Given the description of an element on the screen output the (x, y) to click on. 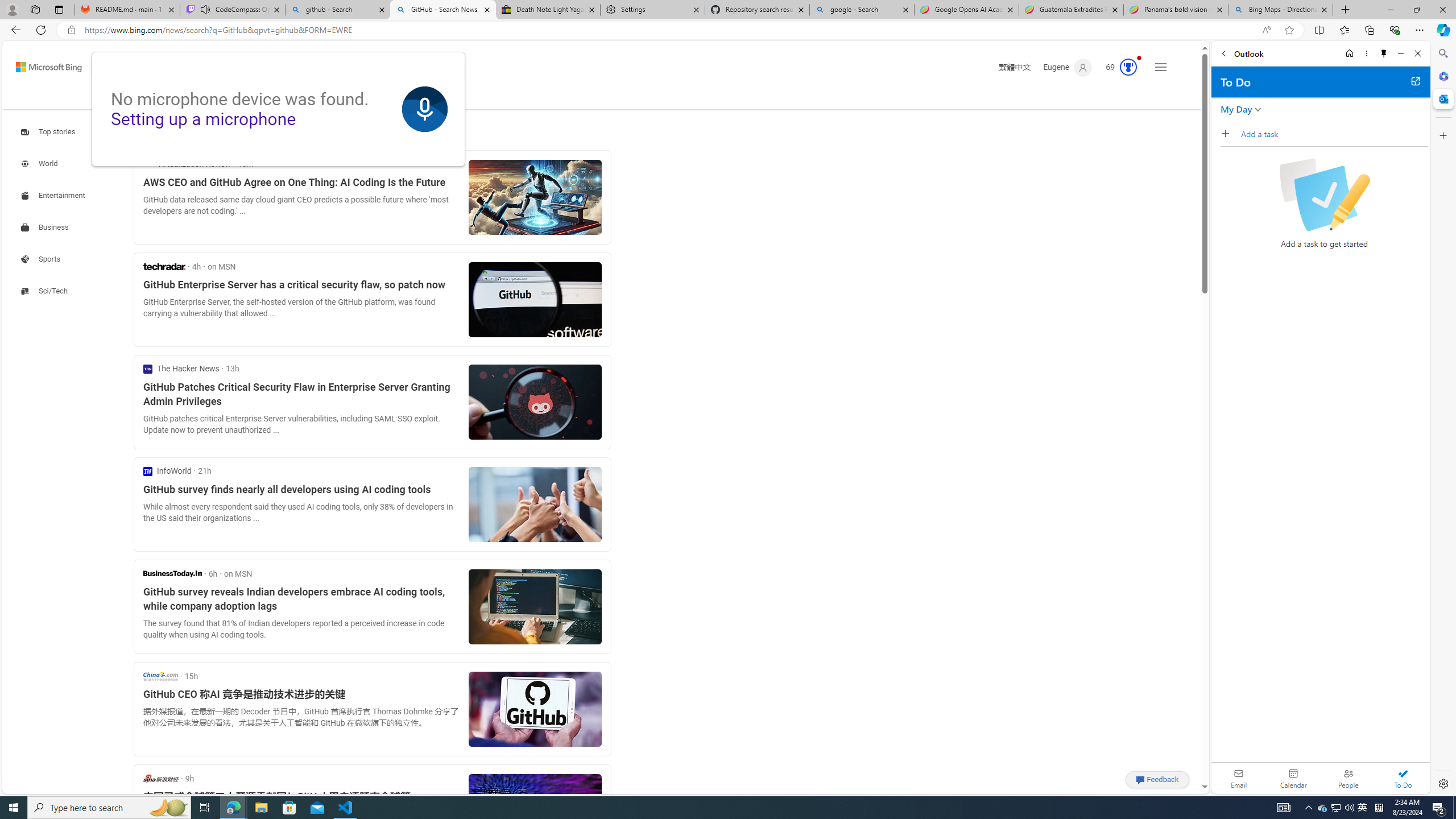
AutomationID: rh_meter (1128, 66)
IMAGES (224, 96)
Clear text (407, 66)
Read aloud this page (Ctrl+Shift+U) (1266, 29)
Search news about Entertainment (54, 195)
My Day (1236, 109)
VIDEOS (268, 98)
Open in new tab (1414, 80)
Calendar. Date today is 22 (1293, 777)
GitHub - Search News (442, 9)
AutomationID: serp_medal_svg (1128, 67)
